Given the description of an element on the screen output the (x, y) to click on. 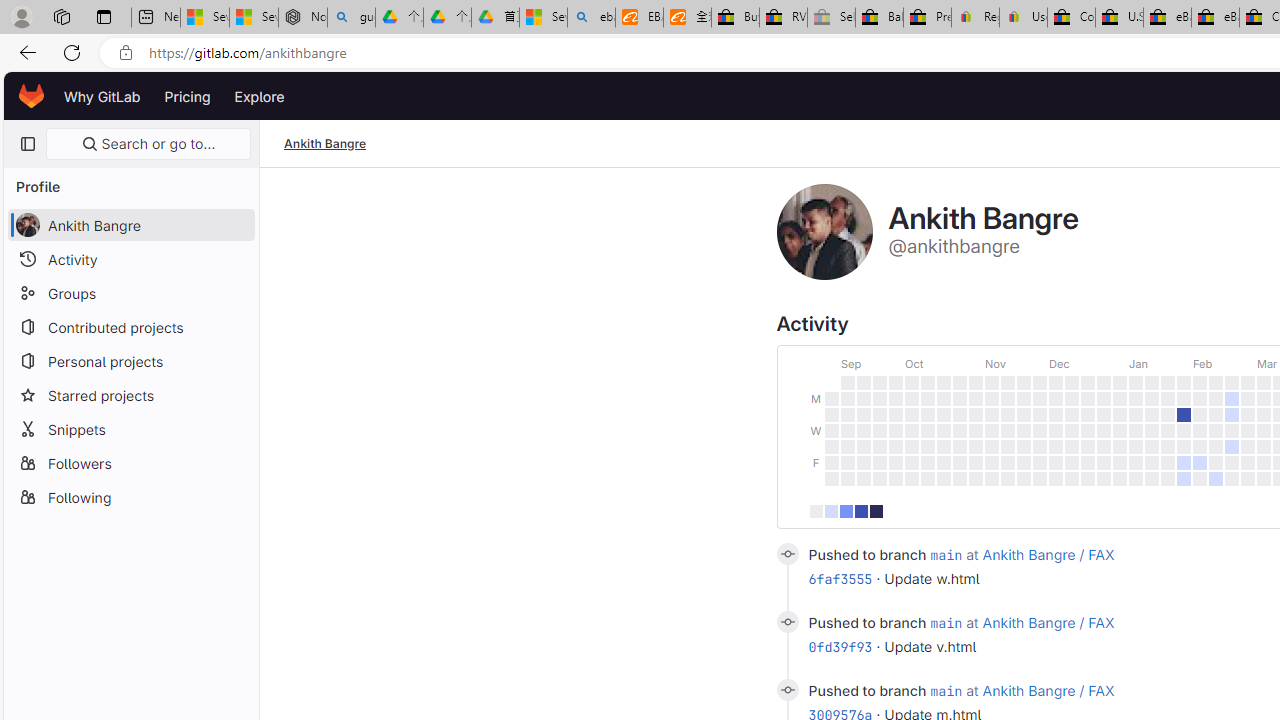
Ankith Bangre / FAX (1047, 690)
